Given the description of an element on the screen output the (x, y) to click on. 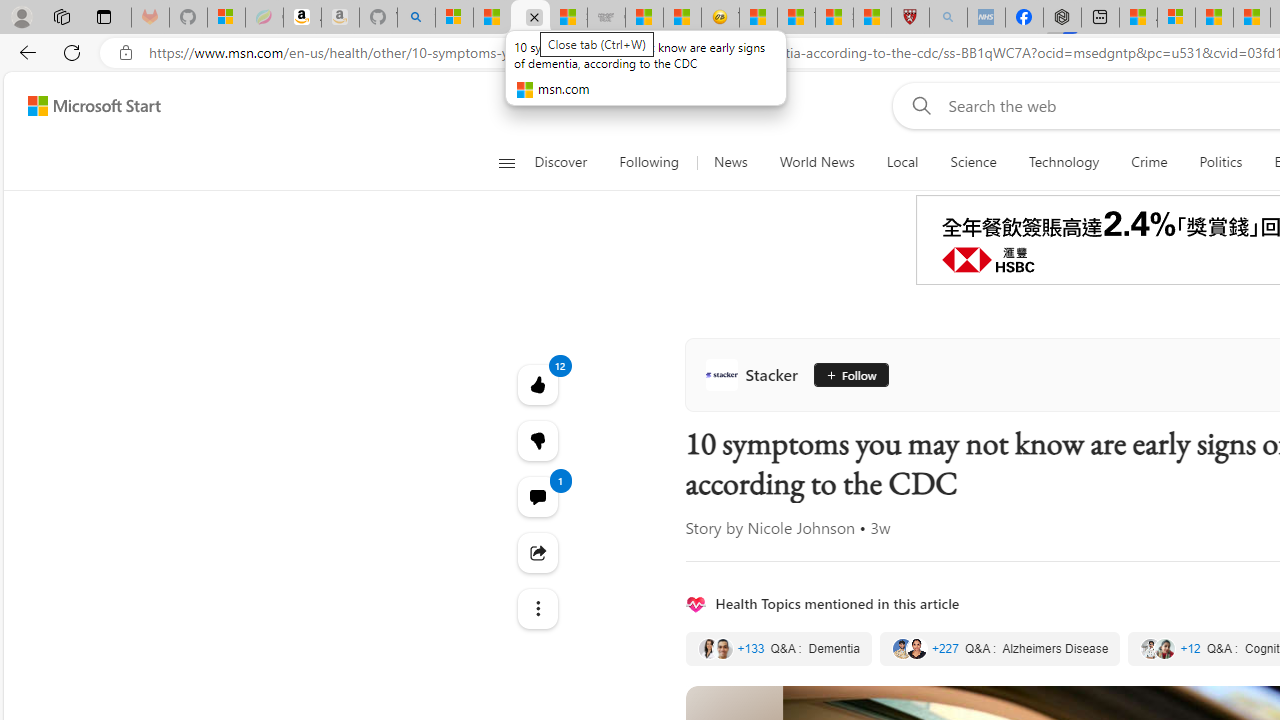
Discover (568, 162)
NCL Adult Asthma Inhaler Choice Guideline - Sleeping (985, 17)
Science (973, 162)
Stocks - MSN (568, 17)
Class: quote-thumbnail (1165, 648)
Science (973, 162)
Local (902, 162)
